Given the description of an element on the screen output the (x, y) to click on. 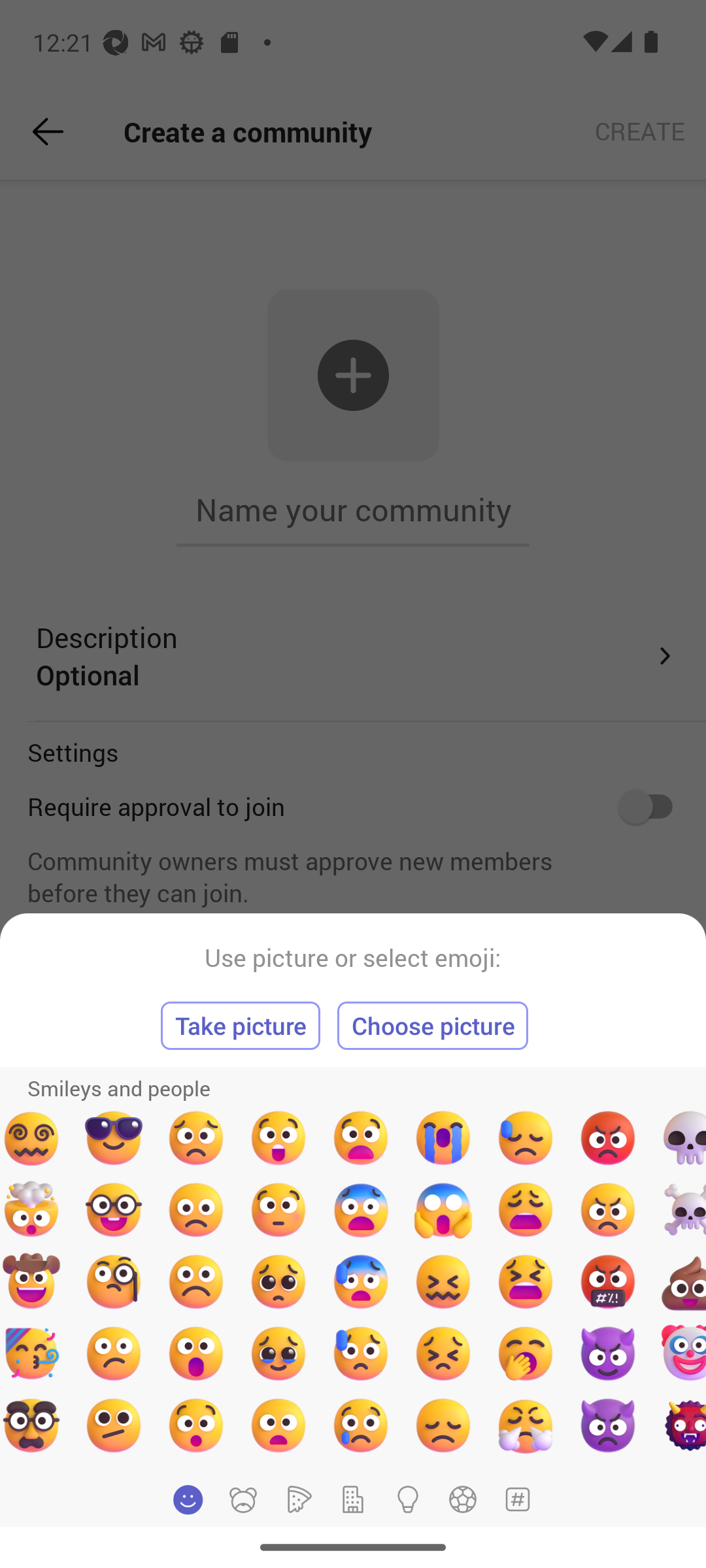
Take picture (240, 1025)
Choose picture (432, 1025)
Face with spiral eyes emoji (33, 1138)
Cool emoji (113, 1138)
Worried emoji (196, 1138)
Astonished face emoji (278, 1138)
Anguished face emoji (360, 1138)
Loudly crying emoji (443, 1138)
Sweating emoji (525, 1138)
Angry face emoji (607, 1138)
Skull emoji (680, 1138)
Exploding head emoji (33, 1210)
Nerdy emoji (113, 1210)
Sad emoji (196, 1210)
Blush emoji (278, 1210)
Fearful emoji (360, 1210)
Screaming with fear emoji (443, 1210)
Weary emoji (525, 1210)
Angry emoji (607, 1210)
Skull and crossbones emoji (680, 1210)
Face with cowboy hat emoji (33, 1281)
Face with monocle emoji (113, 1281)
Frowning face emoji (196, 1281)
Pleading face emoji (278, 1281)
Anxious face with sweat emoji (360, 1281)
Very confused emoji (443, 1281)
Tired face emoji (525, 1281)
Swearing emoji (607, 1281)
Pile of poo emoji (680, 1281)
Party emoji (33, 1353)
Confused emoji (113, 1353)
Surprised emoji (196, 1353)
Face holding back tears emoji (278, 1353)
Sad but relieved face emoji (360, 1353)
Doh! emoji (443, 1353)
Yawning face emoji (525, 1353)
Devil emoji (607, 1353)
Clown face emoji (680, 1353)
Disguised face emoji (33, 1425)
Face with diagonal mouth emoji (113, 1425)
Hushed face emoji (196, 1425)
Frowning face with open mouth emoji (278, 1425)
Crying emoji (360, 1425)
Disappointed emoji (443, 1425)
Face with steam from nose emoji (525, 1425)
Angry face with horns emoji (607, 1425)
Ogre emoji (680, 1425)
Smileys and people, selected (188, 1499)
Animals, not selected (243, 1499)
Food, not selected (297, 1499)
Travel and places, not selected (352, 1499)
Objects, not selected (407, 1499)
Activities, not selected (462, 1499)
Symbols, not selected (517, 1499)
